Given the description of an element on the screen output the (x, y) to click on. 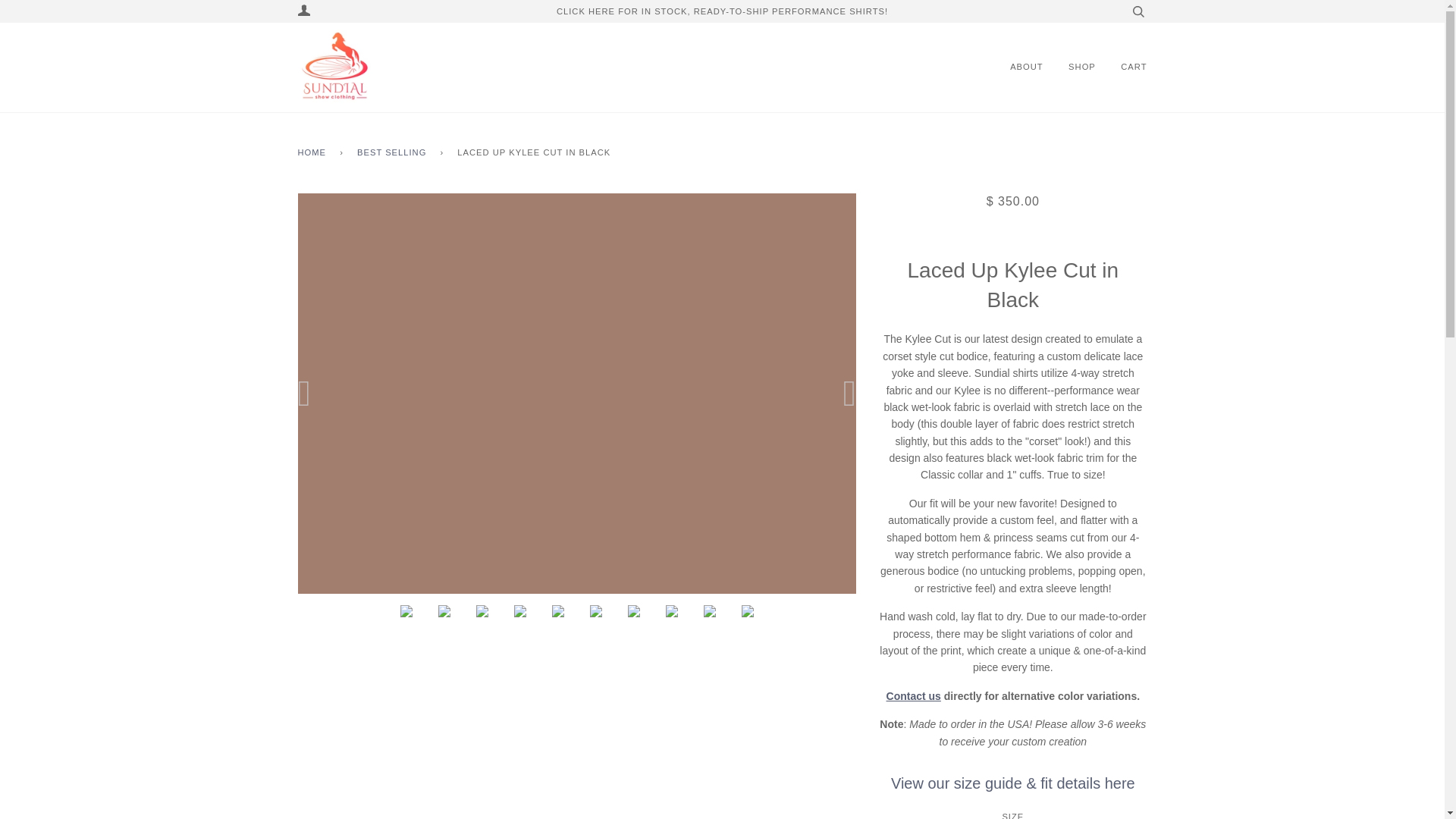
Back to the frontpage (314, 152)
CLICK HERE FOR IN STOCK, READY-TO-SHIP PERFORMANCE SHIRTS! (722, 10)
